Given the description of an element on the screen output the (x, y) to click on. 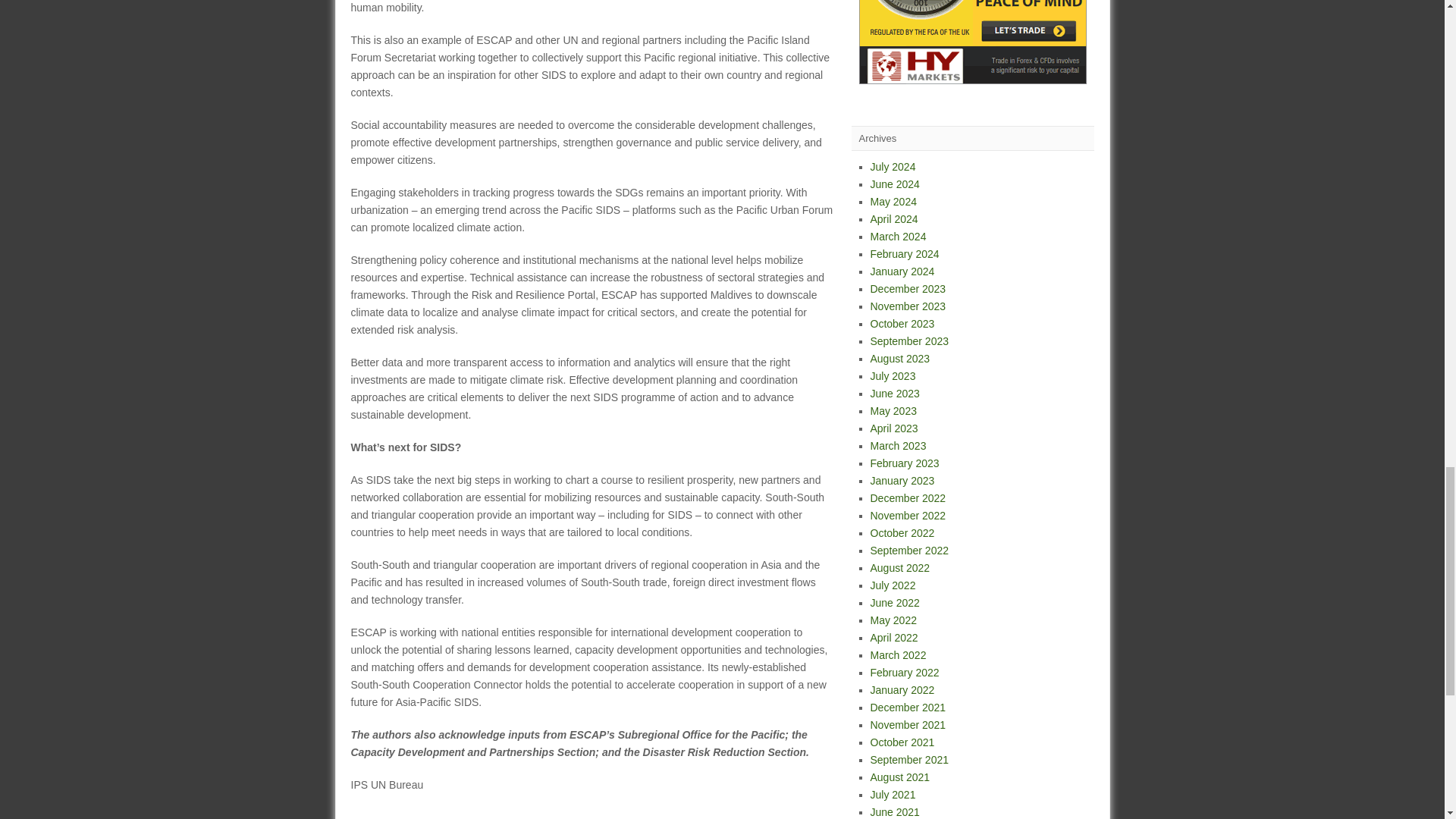
October 2023 (902, 323)
February 2024 (904, 254)
July 2024 (892, 166)
August 2023 (900, 358)
April 2024 (894, 218)
November 2023 (908, 306)
June 2024 (895, 184)
September 2023 (909, 340)
June 2023 (895, 393)
March 2024 (898, 236)
December 2023 (908, 288)
January 2024 (902, 271)
May 2024 (893, 201)
May 2023 (893, 410)
July 2023 (892, 376)
